Given the description of an element on the screen output the (x, y) to click on. 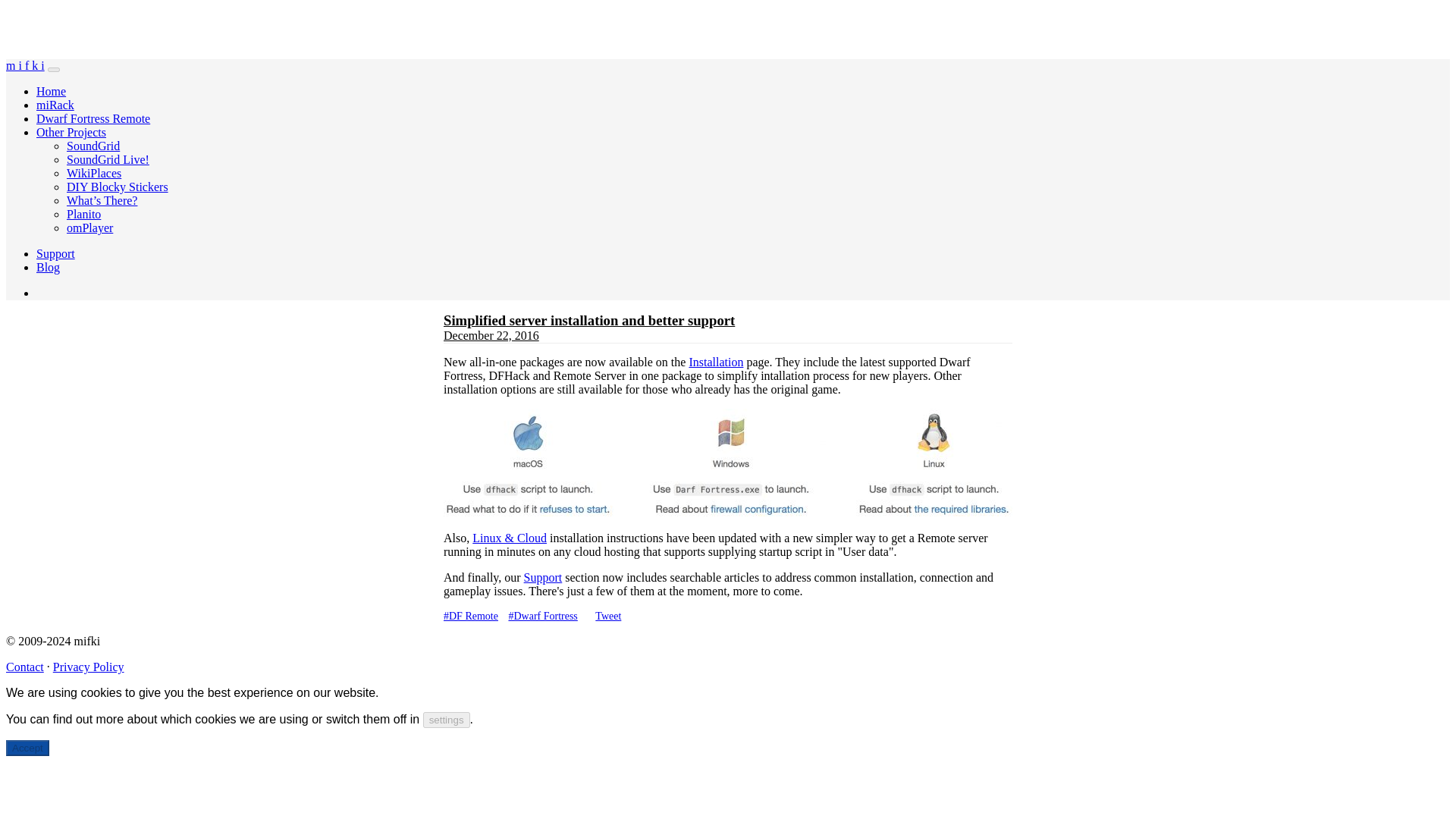
Home (50, 91)
miRack (55, 104)
omPlayer (89, 227)
settings (446, 719)
WikiPlaces (93, 173)
Other Projects (71, 132)
Simplified server installation and better support (589, 320)
Support (543, 576)
m i f k i (25, 65)
DIY Blocky Stickers (117, 186)
